Given the description of an element on the screen output the (x, y) to click on. 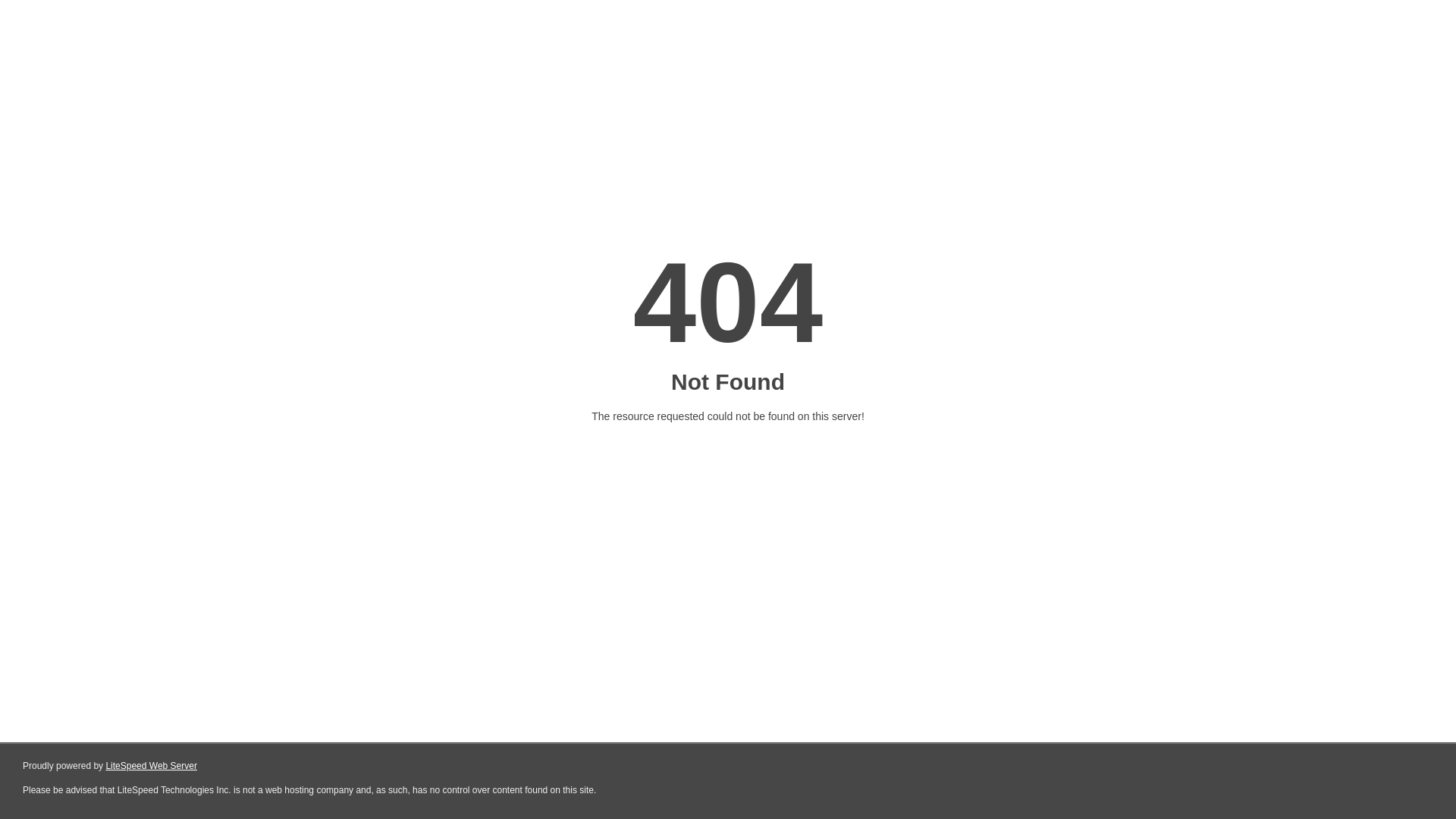
LiteSpeed Web Server Element type: text (151, 765)
